Given the description of an element on the screen output the (x, y) to click on. 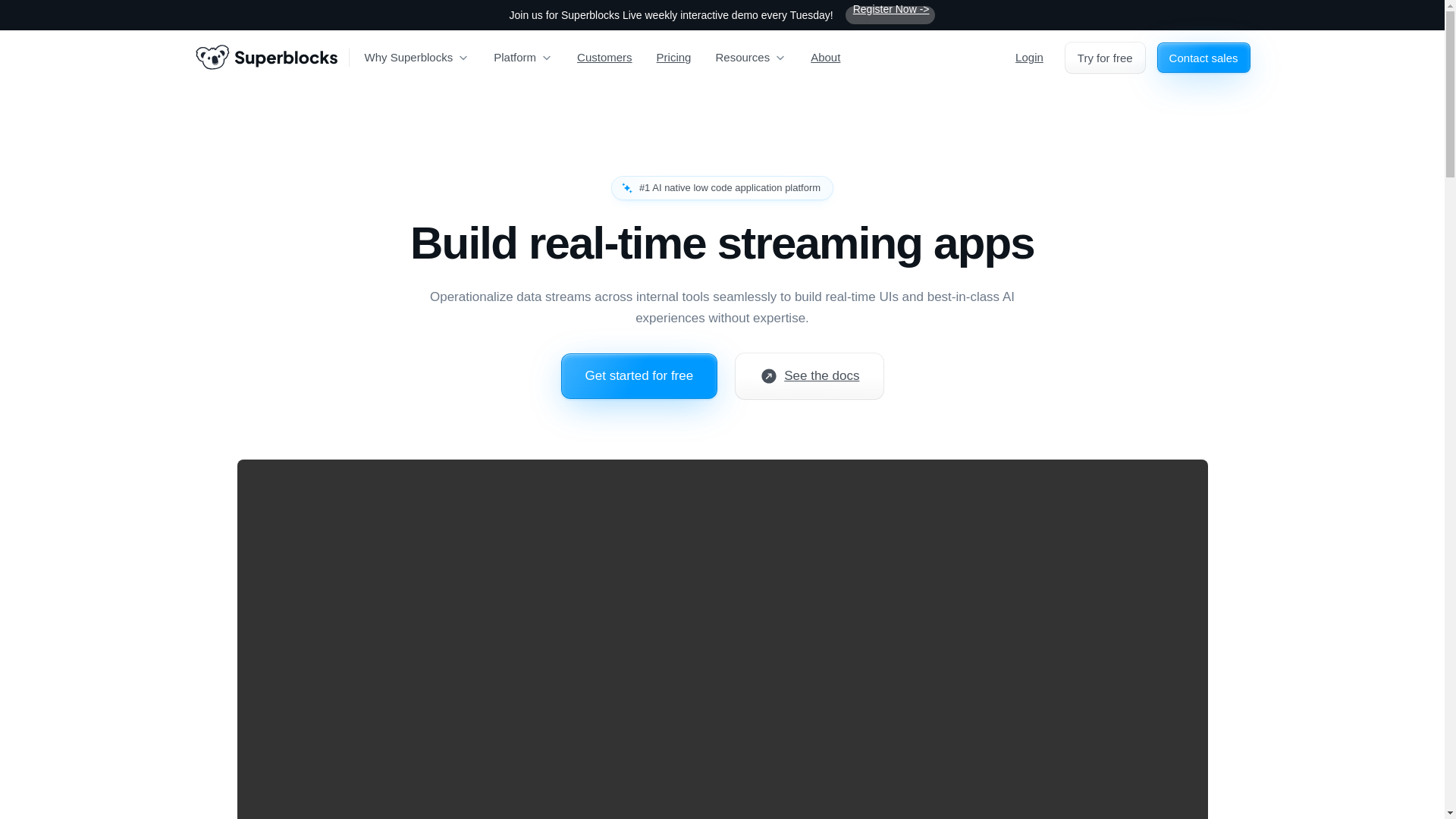
See the docs (809, 375)
Pricing (673, 57)
Customers (604, 57)
About (825, 57)
Contact sales (1203, 57)
Login (1029, 57)
Get started for free (638, 375)
Try for free (1104, 57)
